Given the description of an element on the screen output the (x, y) to click on. 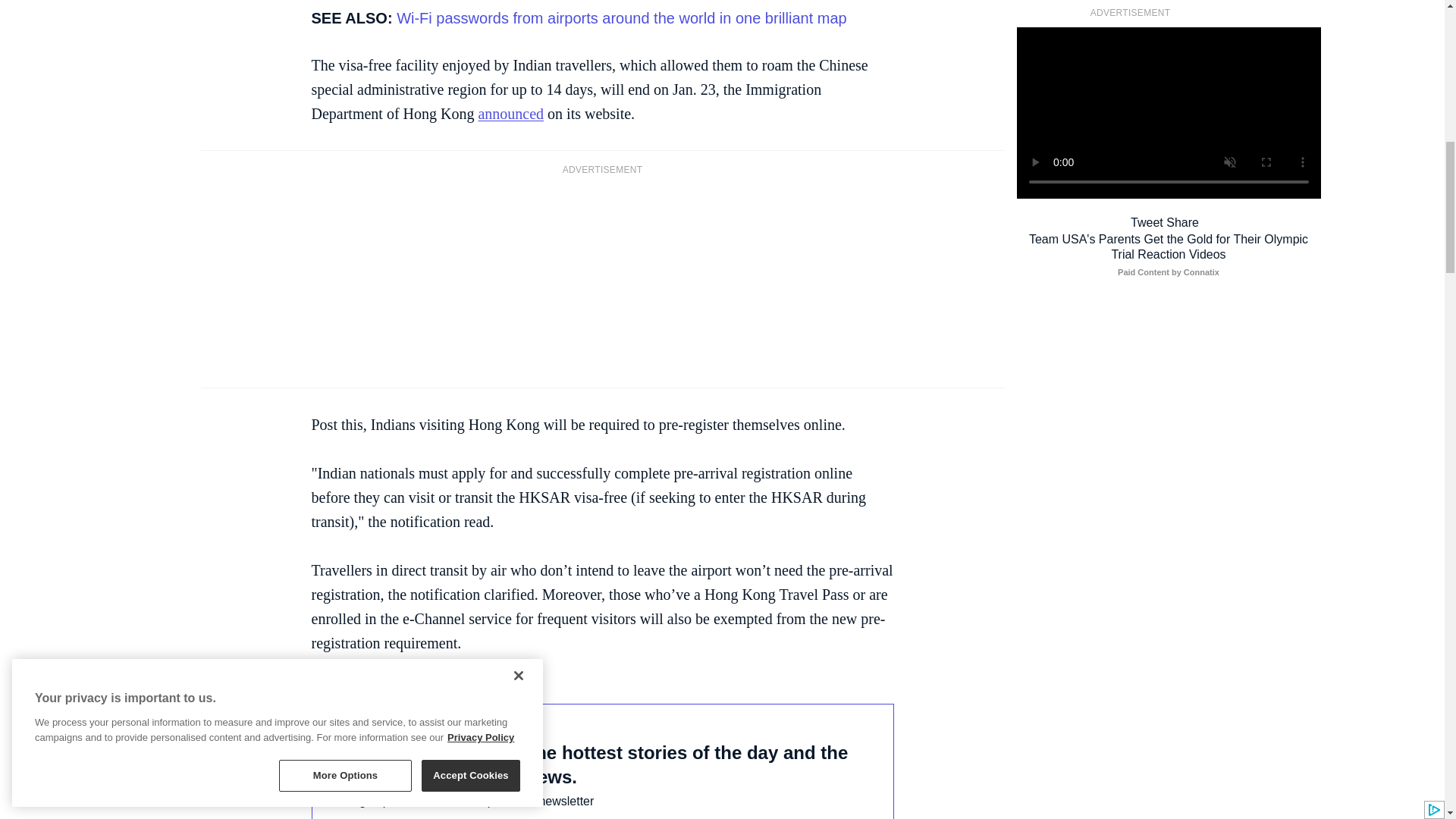
3rd party ad content (601, 279)
